Given the description of an element on the screen output the (x, y) to click on. 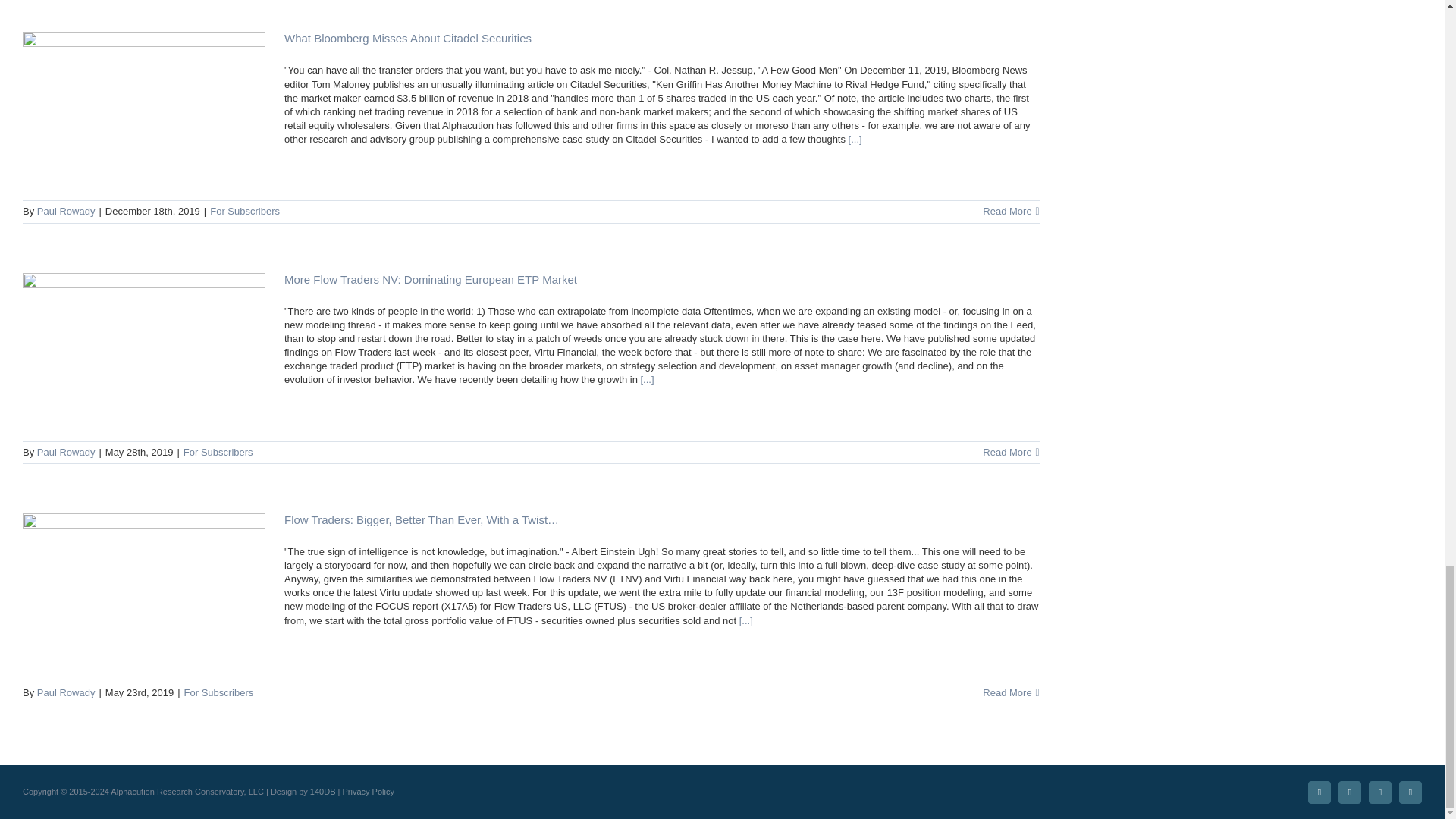
Posts by Paul Rowady (66, 211)
YouTube (1410, 792)
LinkedIn (1318, 792)
Posts by Paul Rowady (66, 451)
Facebook (1379, 792)
Posts by Paul Rowady (66, 692)
Twitter (1349, 792)
